Given the description of an element on the screen output the (x, y) to click on. 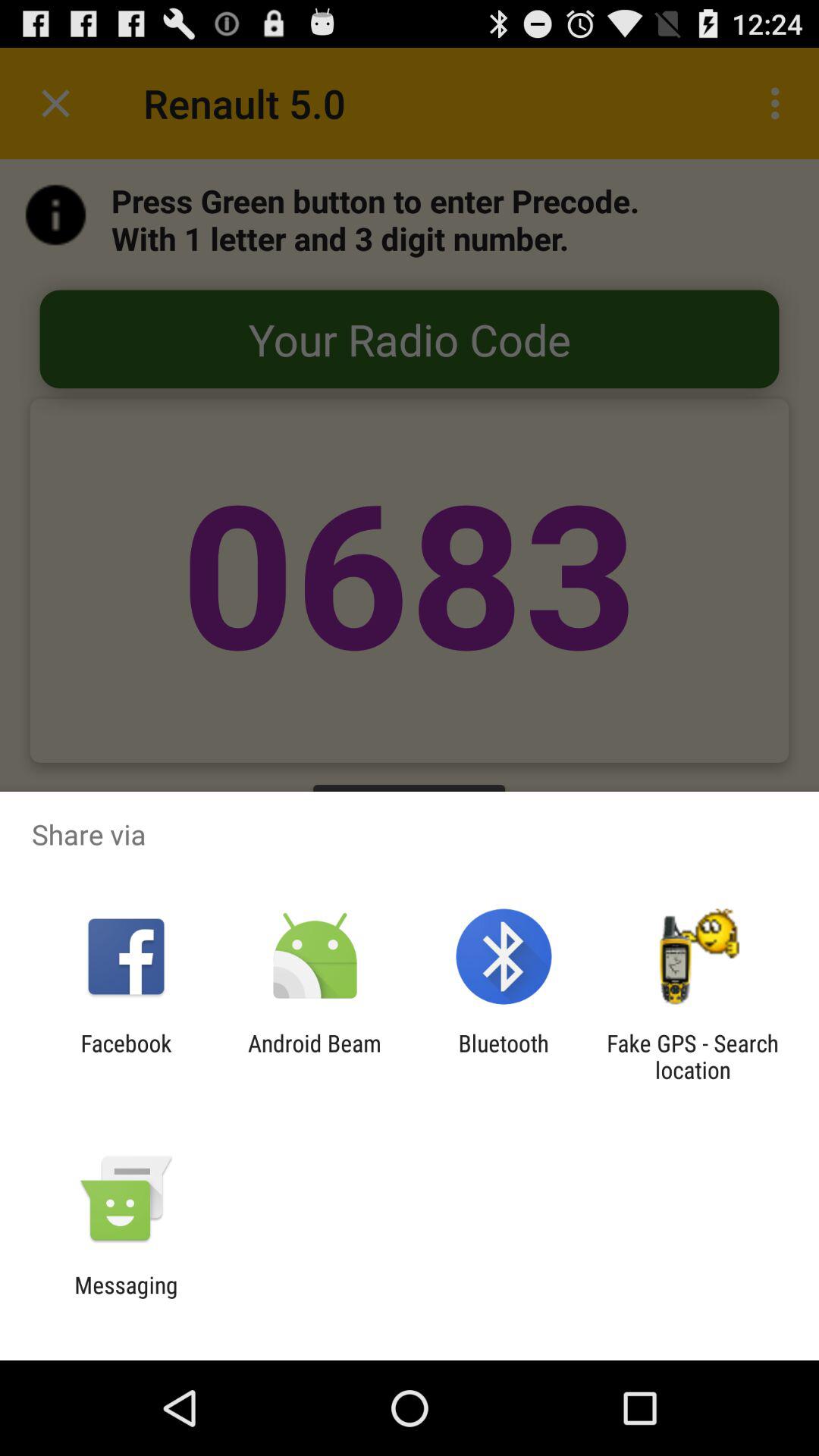
click the app next to android beam app (125, 1056)
